Given the description of an element on the screen output the (x, y) to click on. 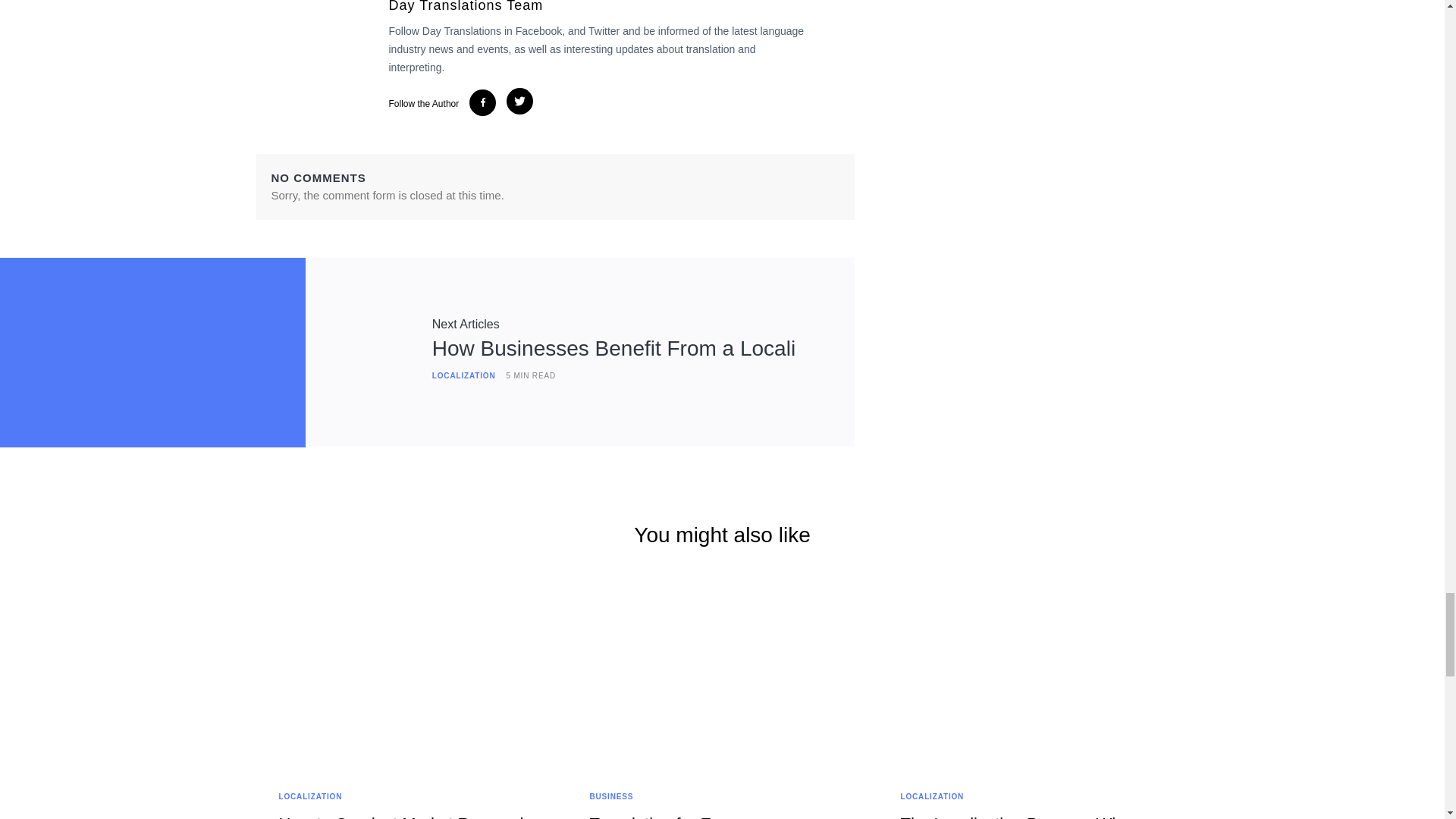
LOCALIZATION (464, 375)
How Businesses Benefit From a Locali (613, 348)
Next Articles (465, 323)
Next post: How Businesses Benefit From a Localized Christmas (465, 323)
Day Translations Team (600, 7)
